Given the description of an element on the screen output the (x, y) to click on. 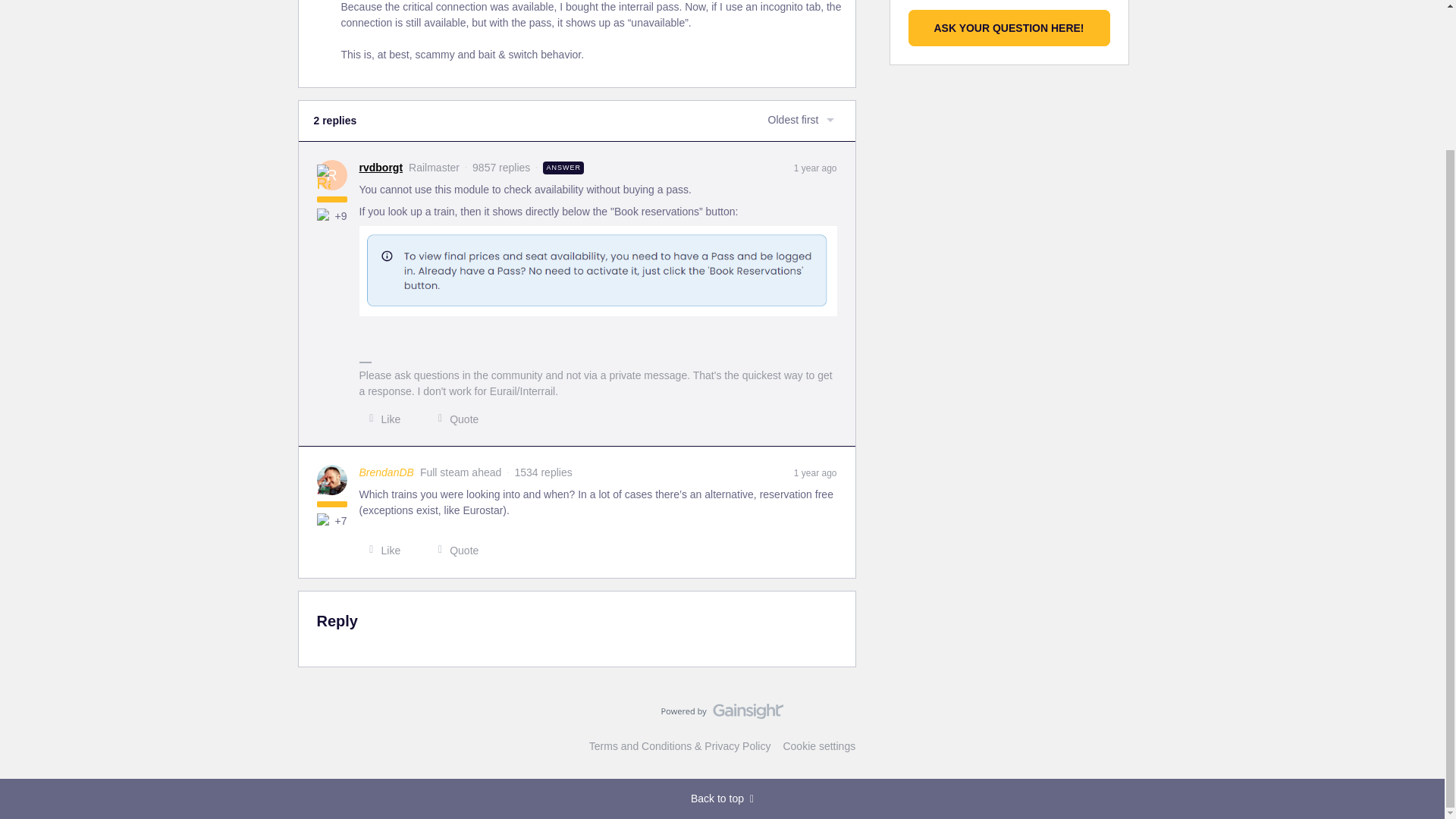
Like (380, 549)
Quote (453, 418)
BrendanDB (386, 472)
Like (380, 418)
Curious mind (324, 215)
Cookie settings (818, 746)
BrendanDB (386, 472)
1 year ago (815, 472)
Back to top (722, 798)
1 year ago (815, 166)
